Given the description of an element on the screen output the (x, y) to click on. 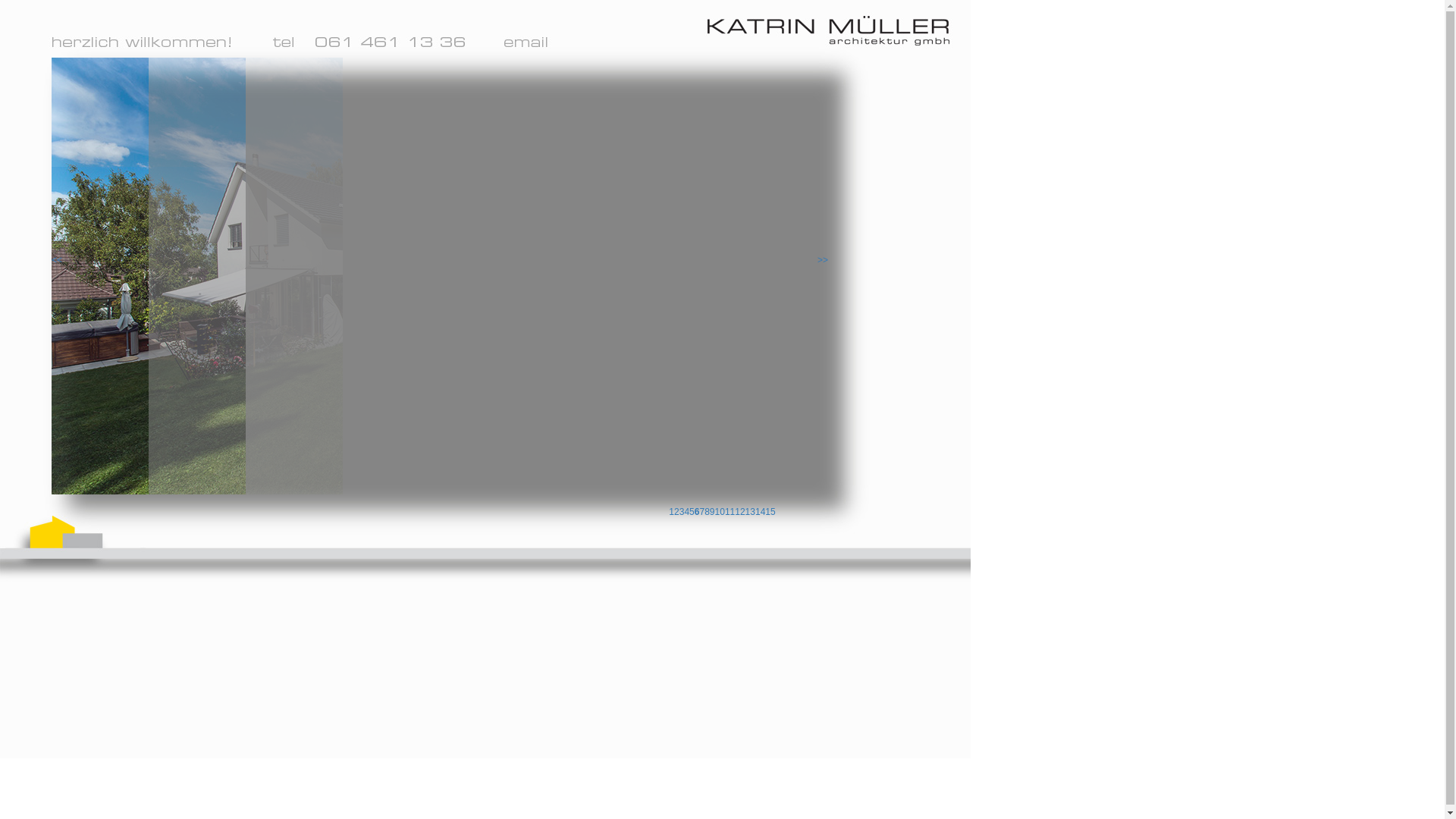
>> Element type: text (822, 260)
7 Element type: text (707, 511)
6 Element type: text (702, 511)
2 Element type: text (682, 511)
9 Element type: text (717, 511)
12 Element type: text (745, 511)
11 Element type: text (735, 511)
4 Element type: text (692, 511)
5 Element type: text (697, 511)
14 Element type: text (765, 511)
8 Element type: text (712, 511)
1 Element type: text (677, 511)
3 Element type: text (687, 511)
13 Element type: text (755, 511)
<< Element type: text (56, 260)
15 Element type: text (776, 511)
10 Element type: text (725, 511)
